Given the description of an element on the screen output the (x, y) to click on. 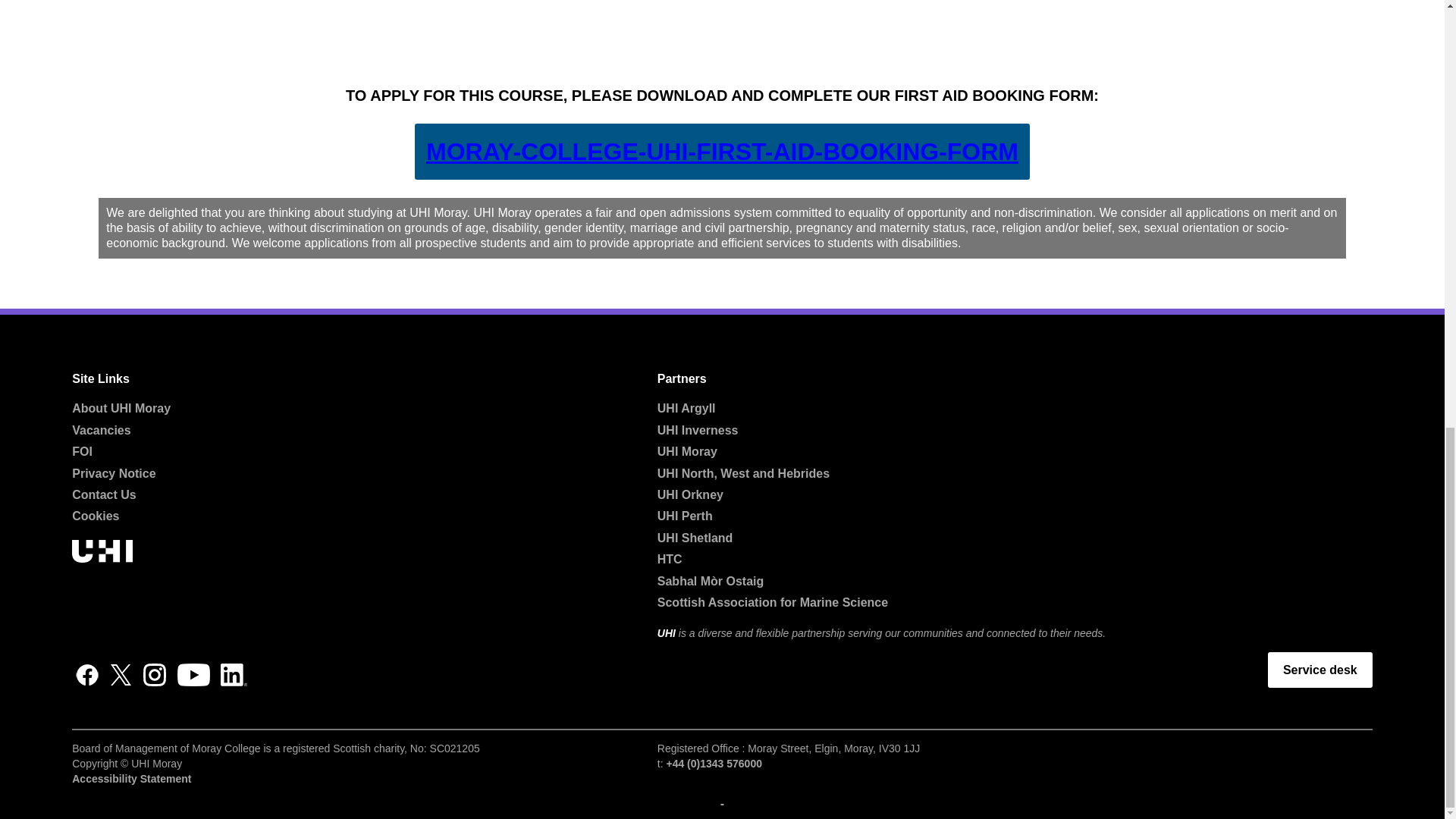
UHI Moray (687, 451)
Scottish Association for Marine Science UHI (773, 602)
UHI Inverness (698, 430)
UHI Perth (685, 515)
UHI Shetland (695, 537)
Orkney College UHI (690, 494)
UHI North, West and Hebrides (743, 472)
UHI Argyll (687, 408)
HTC (670, 558)
